Given the description of an element on the screen output the (x, y) to click on. 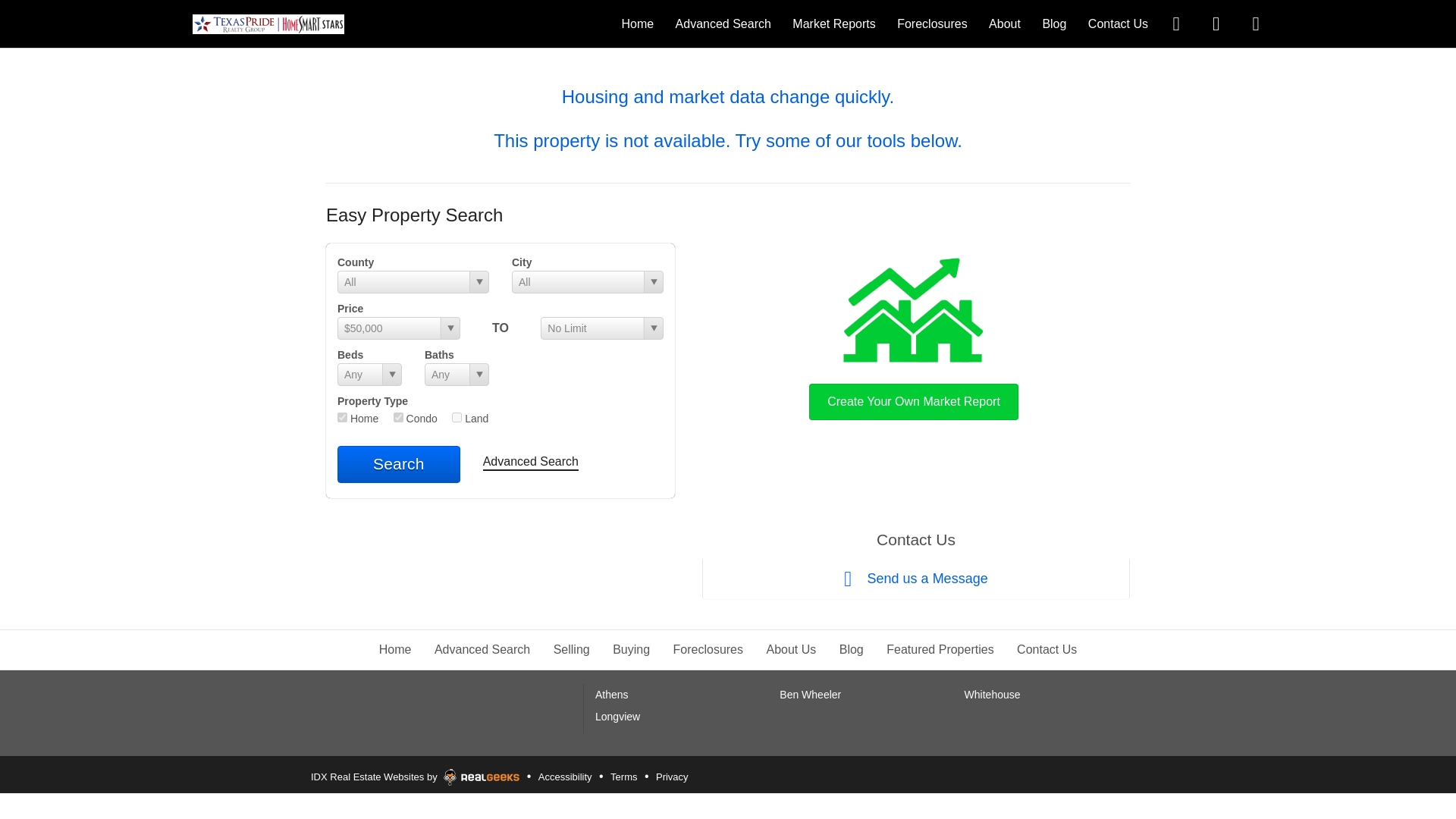
lnd (456, 417)
res (342, 417)
Accessibility (564, 776)
Terms (623, 776)
Advanced Search (530, 462)
Buying (630, 649)
Featured Properties (939, 649)
Selling (571, 649)
Search (398, 463)
Contact Us (1117, 23)
About (1004, 23)
Athens (611, 694)
Send us a Message (915, 578)
Create Your Own Market Report (913, 335)
Ben Wheeler (809, 694)
